Given the description of an element on the screen output the (x, y) to click on. 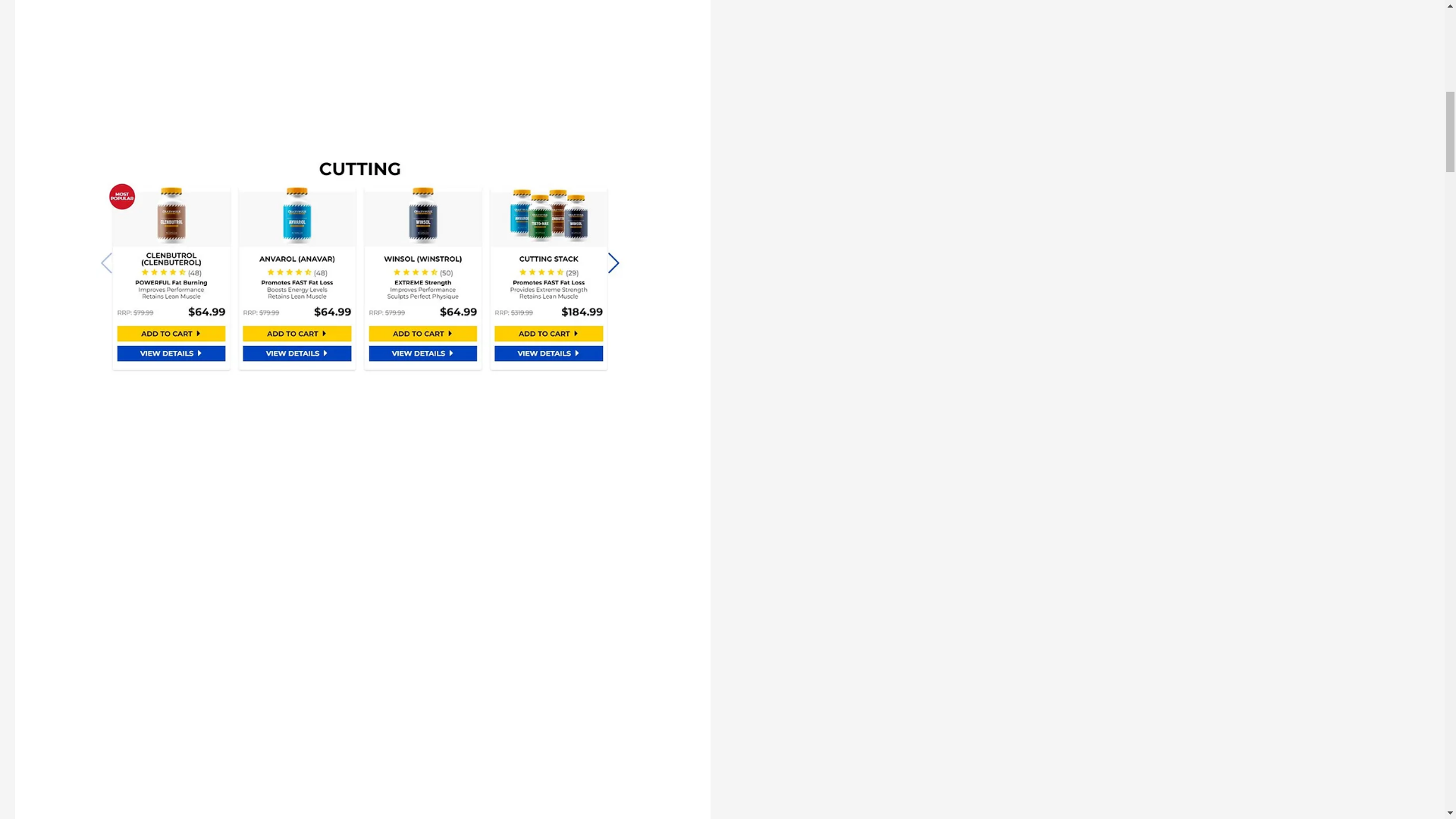
detectable clenbuterol long how in blood is (361, 266)
